Given the description of an element on the screen output the (x, y) to click on. 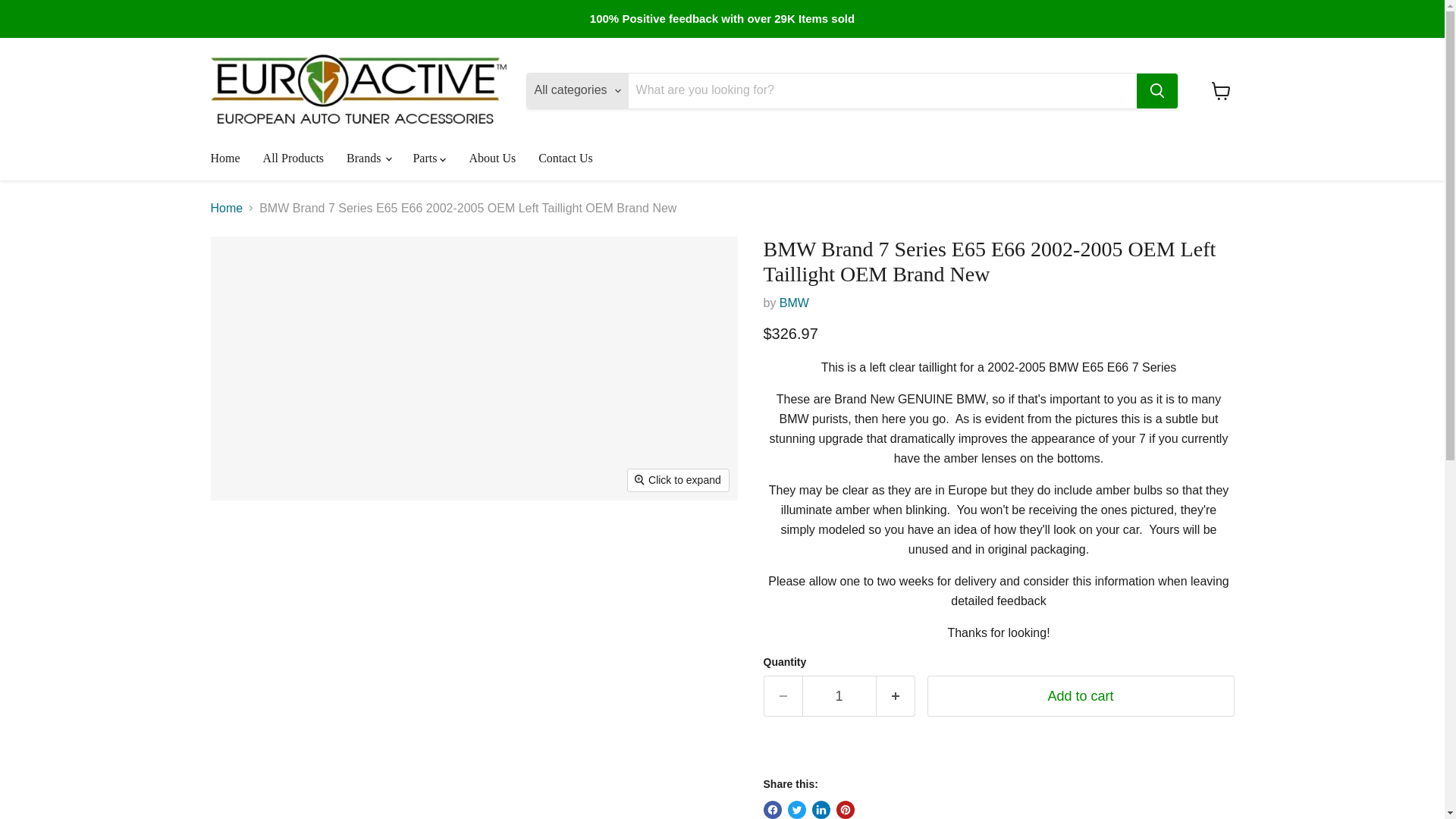
1 (839, 696)
Home (224, 158)
BMW (793, 302)
All Products (292, 158)
View cart (1221, 90)
